Given the description of an element on the screen output the (x, y) to click on. 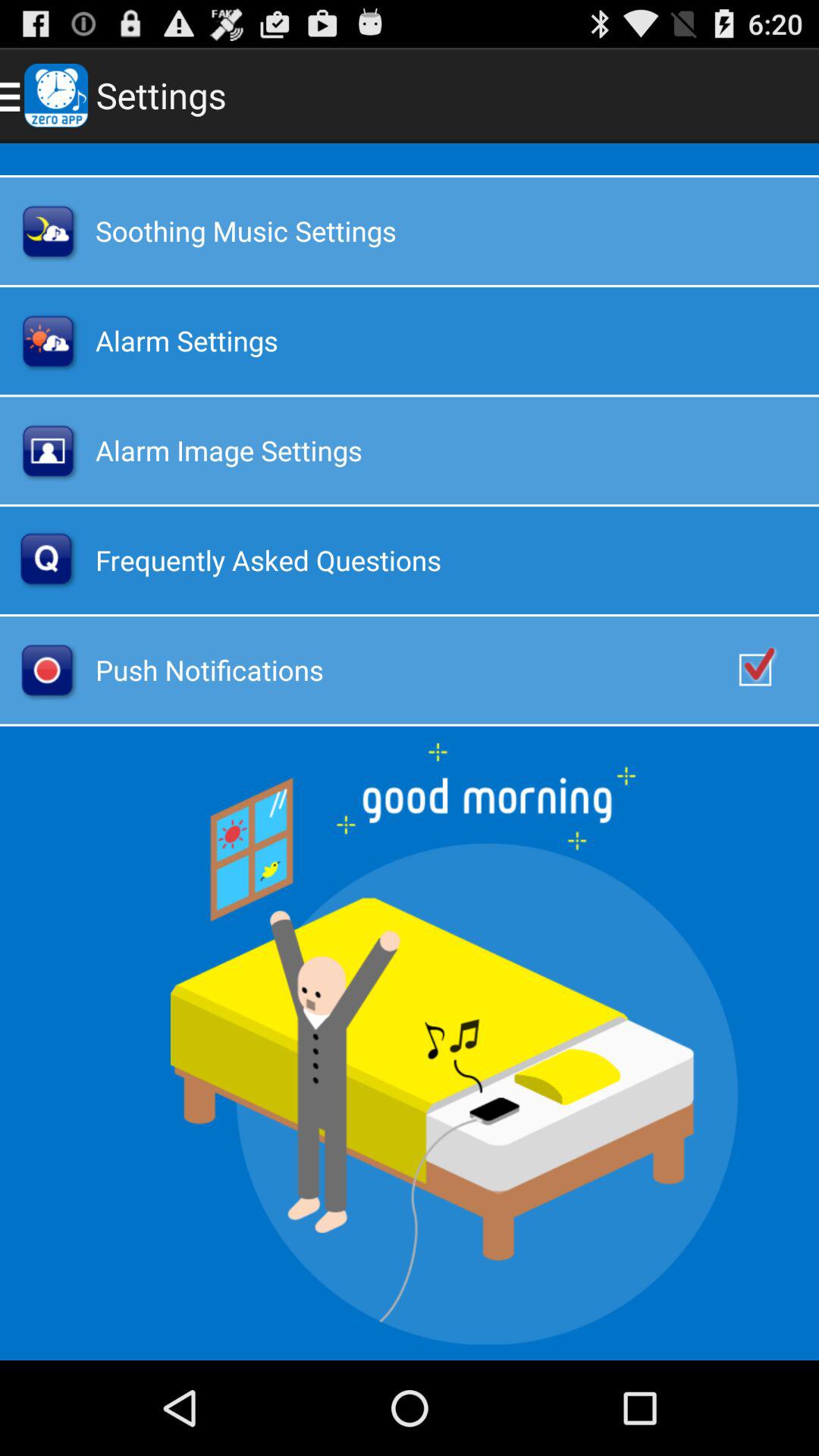
tap the icon to the right of the push notifications icon (771, 670)
